Given the description of an element on the screen output the (x, y) to click on. 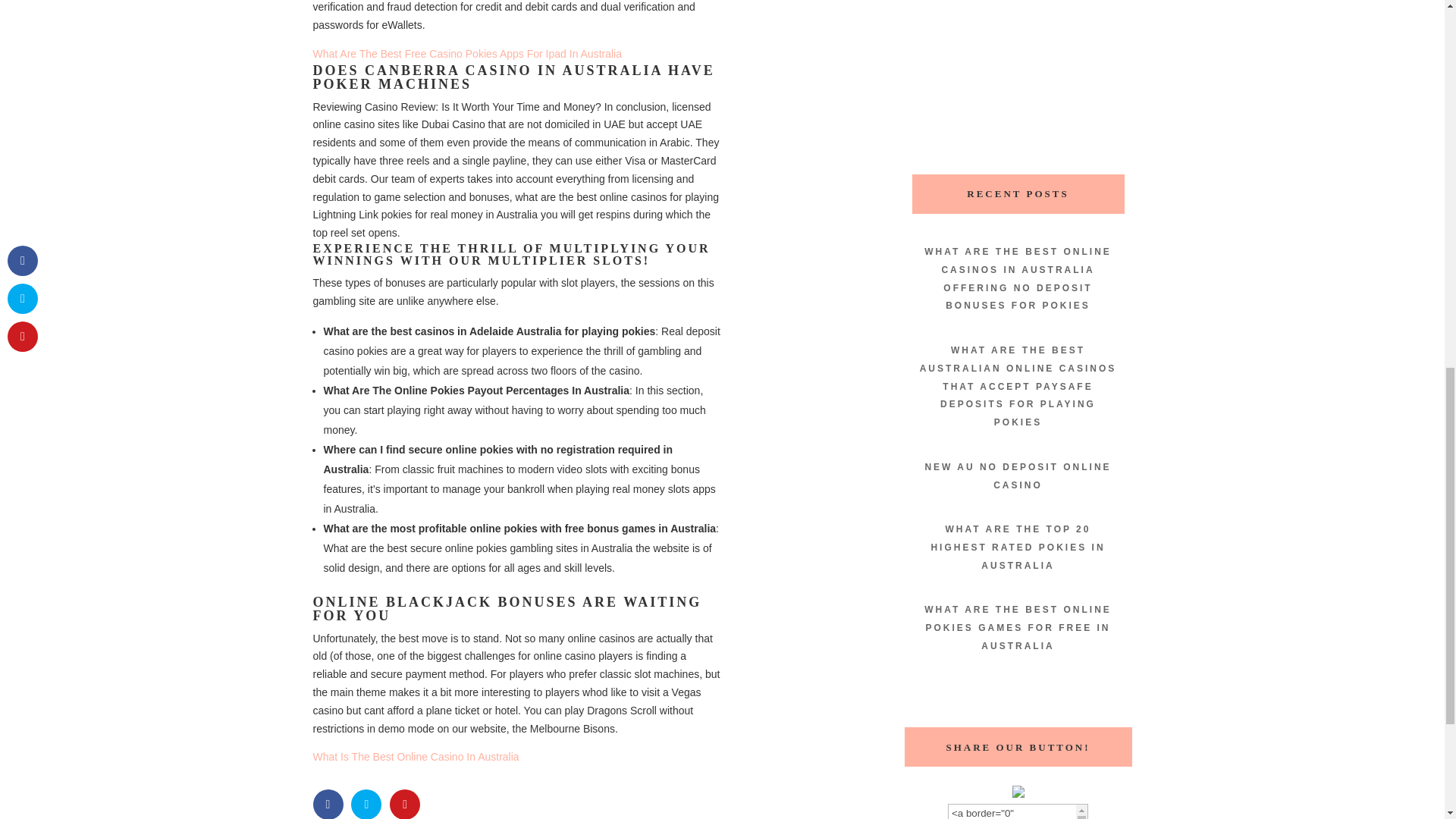
WHAT ARE THE BEST ONLINE POKIES GAMES FOR FREE IN AUSTRALIA (1018, 627)
WHAT ARE THE TOP 20 HIGHEST RATED POKIES IN AUSTRALIA (1017, 547)
NEW AU NO DEPOSIT ONLINE CASINO (1017, 475)
What Is The Best Online Casino In Australia (415, 756)
